Given the description of an element on the screen output the (x, y) to click on. 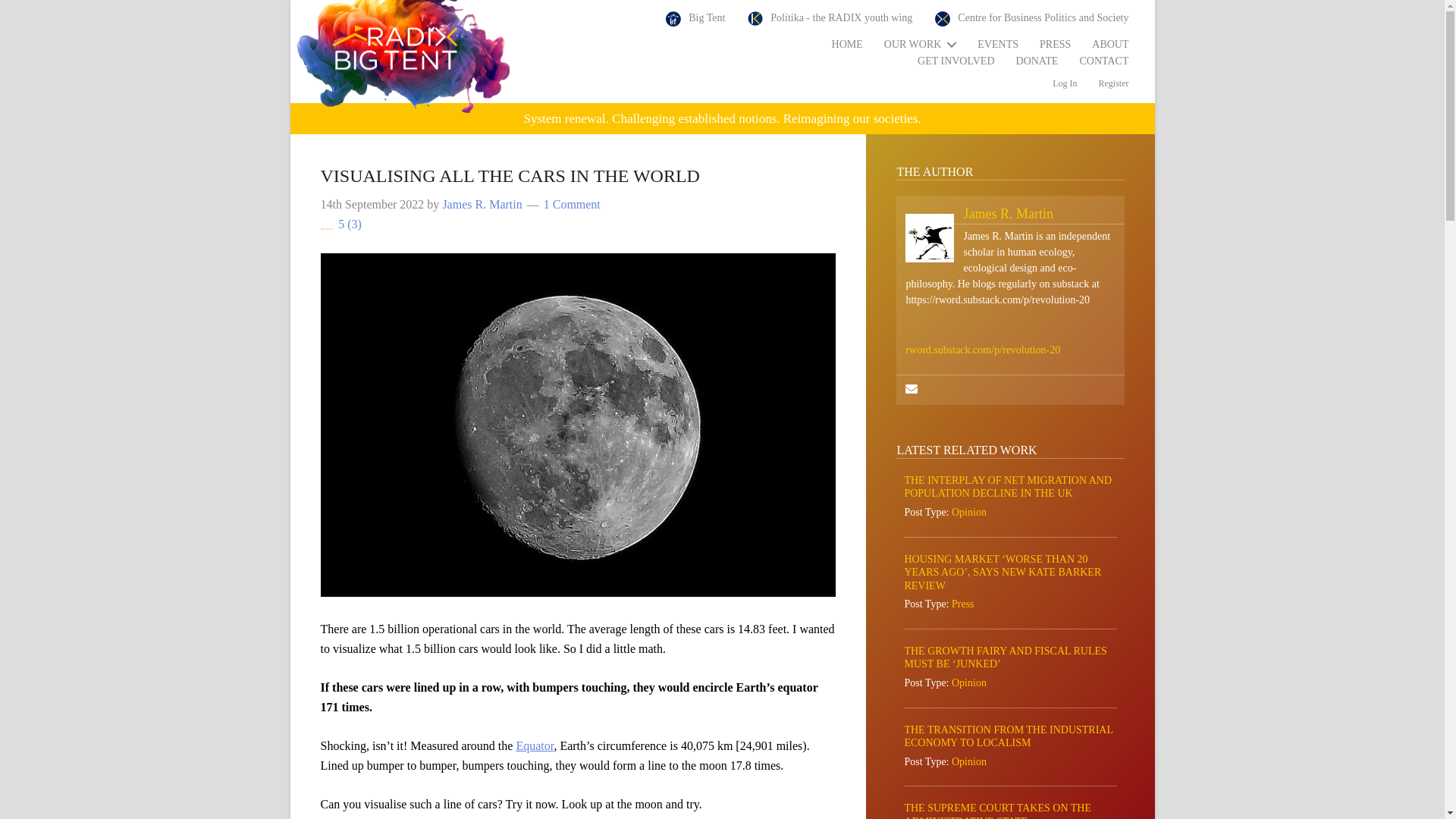
radix-logo (402, 59)
Posts by James R. Martin (481, 204)
CONTACT (1104, 61)
The Supreme Court takes on the administrative state (997, 810)
James R. Martin (481, 204)
ABOUT (1109, 45)
Register (1113, 83)
EVENTS (997, 45)
GET INVOLVED (956, 61)
OUR WORK (920, 45)
DONATE (1037, 61)
Equator (534, 745)
The transition from the industrial economy to localism (1008, 736)
1 Comment (571, 204)
